Given the description of an element on the screen output the (x, y) to click on. 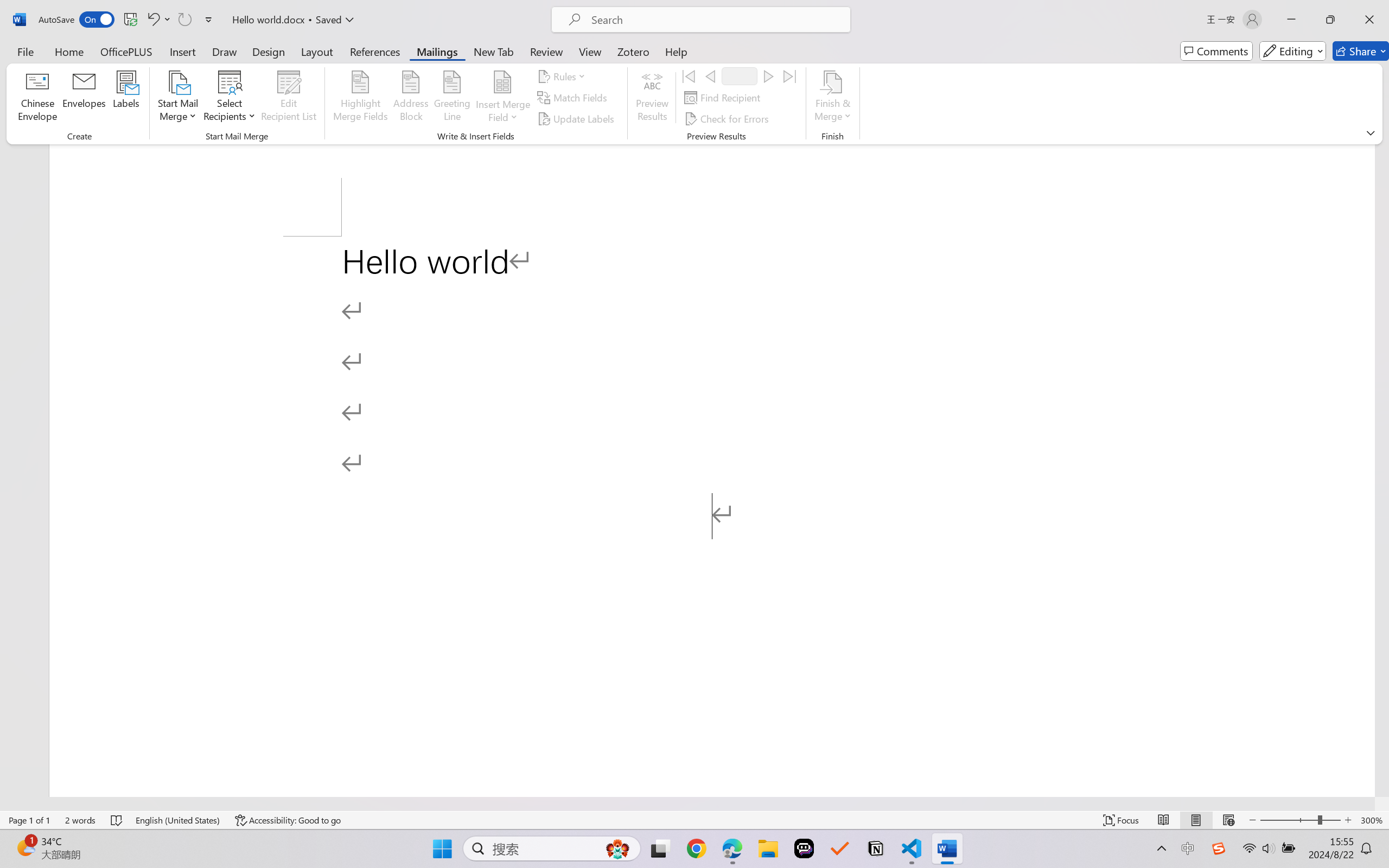
Class: MsoCommandBar (694, 72)
Review (546, 51)
Ribbon Display Options (1370, 132)
Chinese Envelope... (37, 97)
Home (69, 51)
Edit Recipient List... (288, 97)
Read Mode (1163, 819)
Previous (709, 75)
AutomationID: BadgeAnchorLargeTicker (24, 847)
Find Recipient... (723, 97)
Highlight Merge Fields (360, 97)
Start Mail Merge (177, 97)
Insert Merge Field (502, 81)
Close (1369, 19)
